Given the description of an element on the screen output the (x, y) to click on. 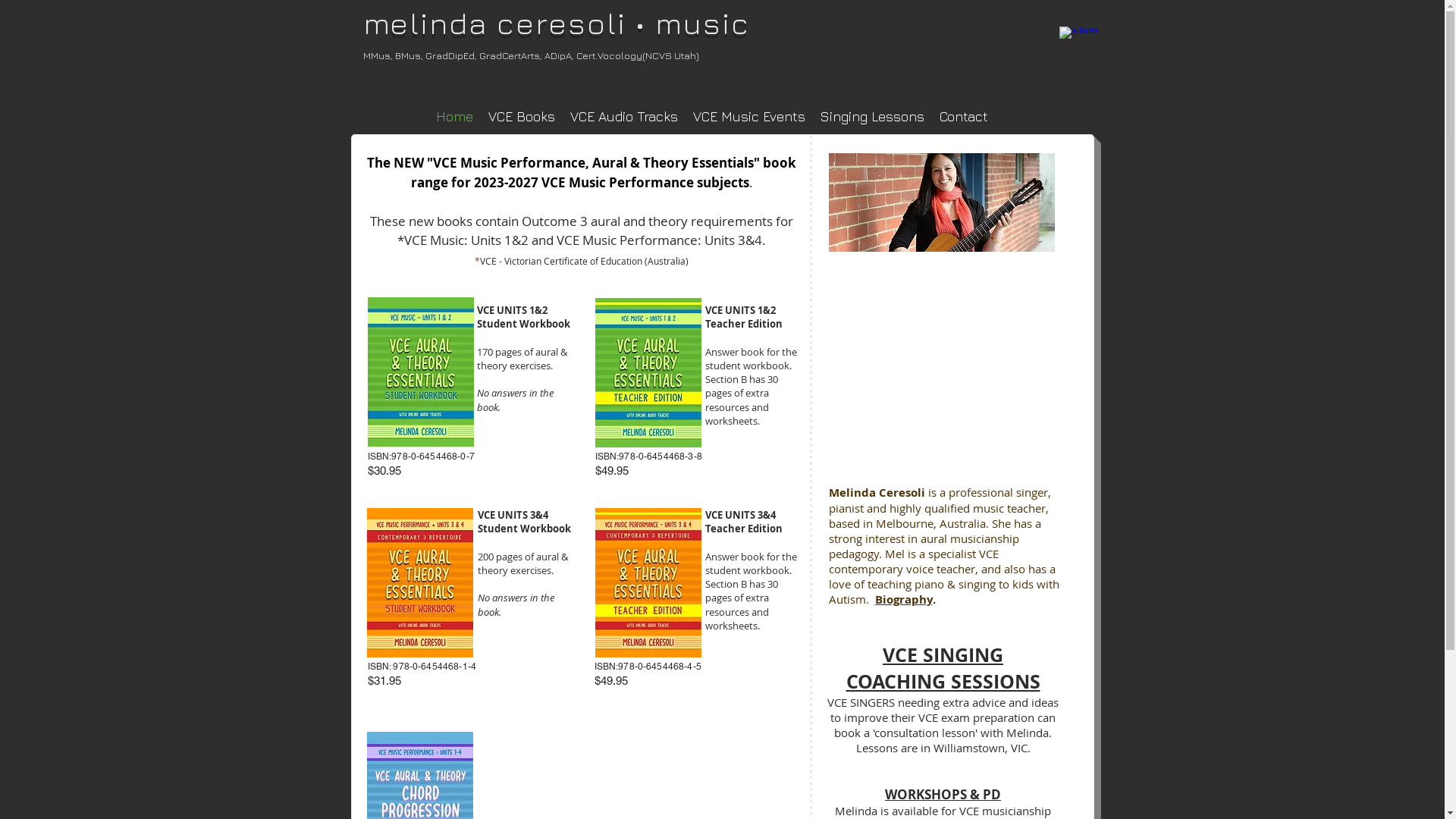
VCE Music Events Element type: text (748, 116)
COACHING SESSIONS Element type: text (943, 681)
VCE SINGING Element type: text (942, 654)
Biography Element type: text (903, 599)
Home Element type: text (453, 116)
Melinda Ceresoli: musician and teacher Element type: hover (941, 202)
Contact Element type: text (962, 116)
